Given the description of an element on the screen output the (x, y) to click on. 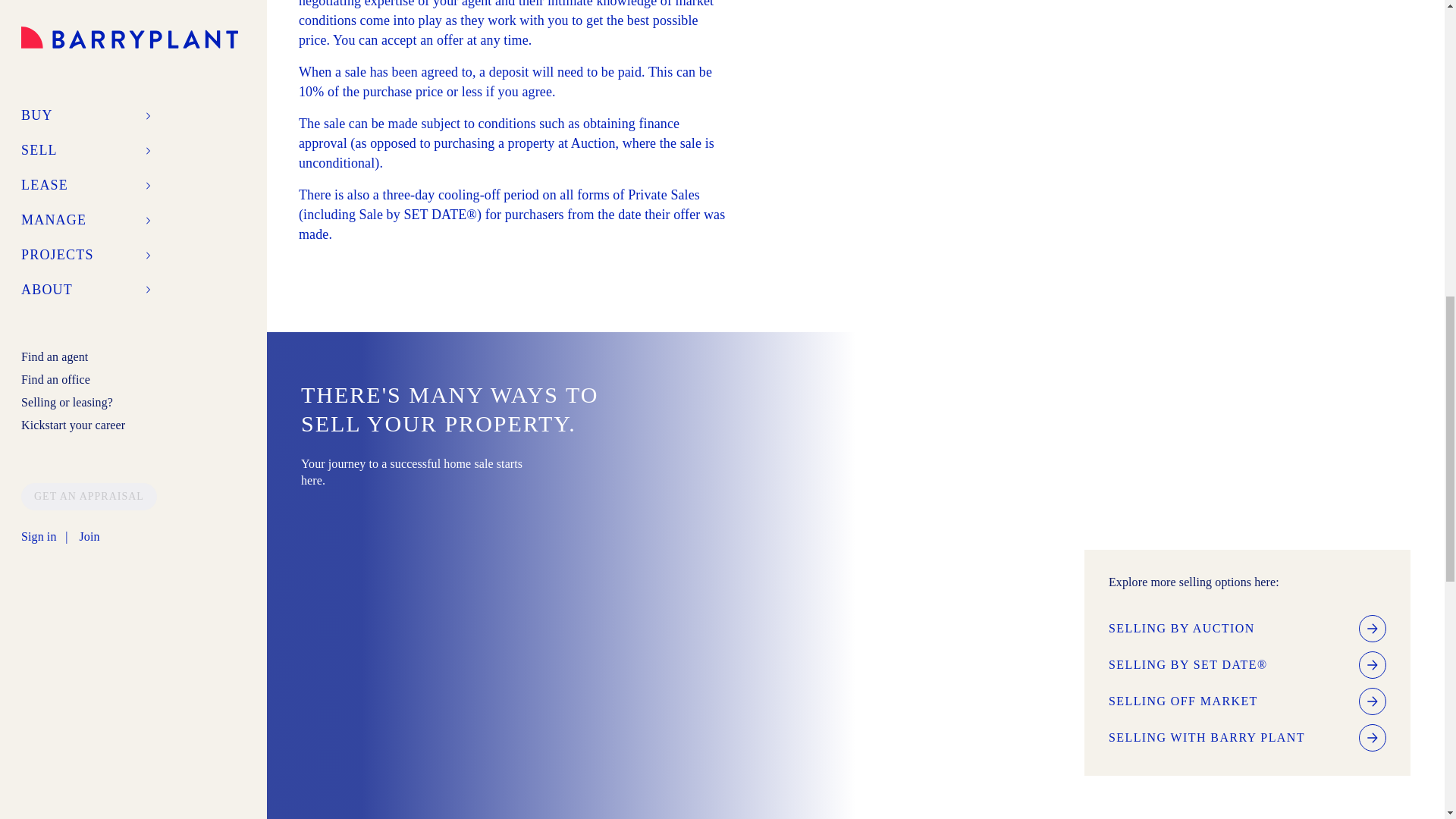
SELLING BY AUCTION (1247, 628)
SELLING OFF MARKET (1247, 700)
SELLING WITH BARRY PLANT (1247, 737)
